Given the description of an element on the screen output the (x, y) to click on. 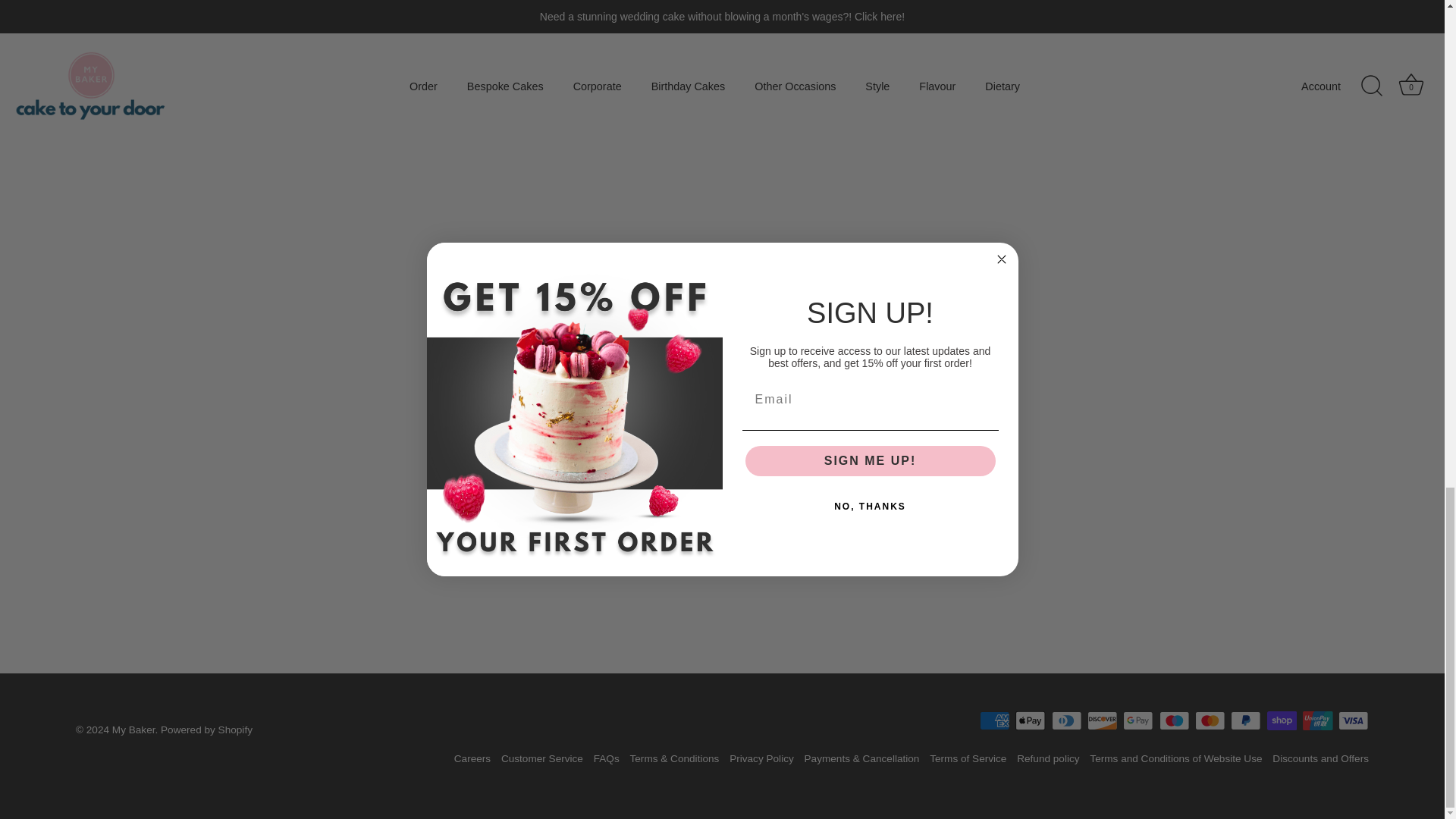
Google Pay (1137, 720)
Visa (1353, 720)
American Express (994, 720)
Diners Club (1066, 720)
Mastercard (1209, 720)
Discover (1101, 720)
Union Pay (1317, 720)
Maestro (1173, 720)
Apple Pay (1029, 720)
PayPal (1245, 720)
Shop Pay (1281, 720)
